Given the description of an element on the screen output the (x, y) to click on. 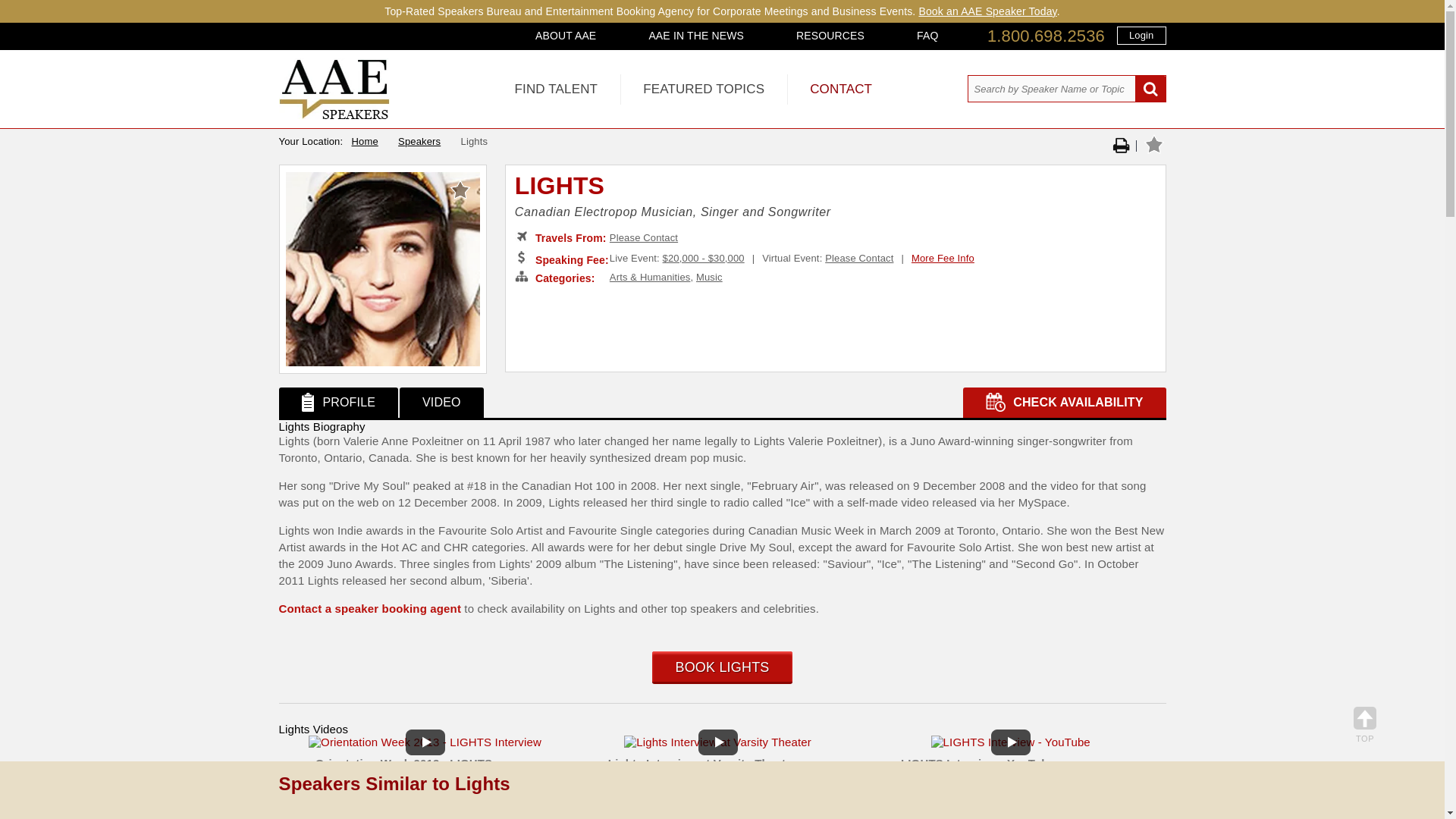
AAE IN THE NEWS (695, 34)
Login (1141, 35)
ABOUT AAE (565, 34)
RESOURCES (829, 34)
Search (1150, 89)
FAQ (927, 34)
1.800.698.2536 (1046, 35)
All American Speakers Bureau and Celebrity Booking Agency (334, 115)
Book an AAE Speaker Today (987, 10)
